Given the description of an element on the screen output the (x, y) to click on. 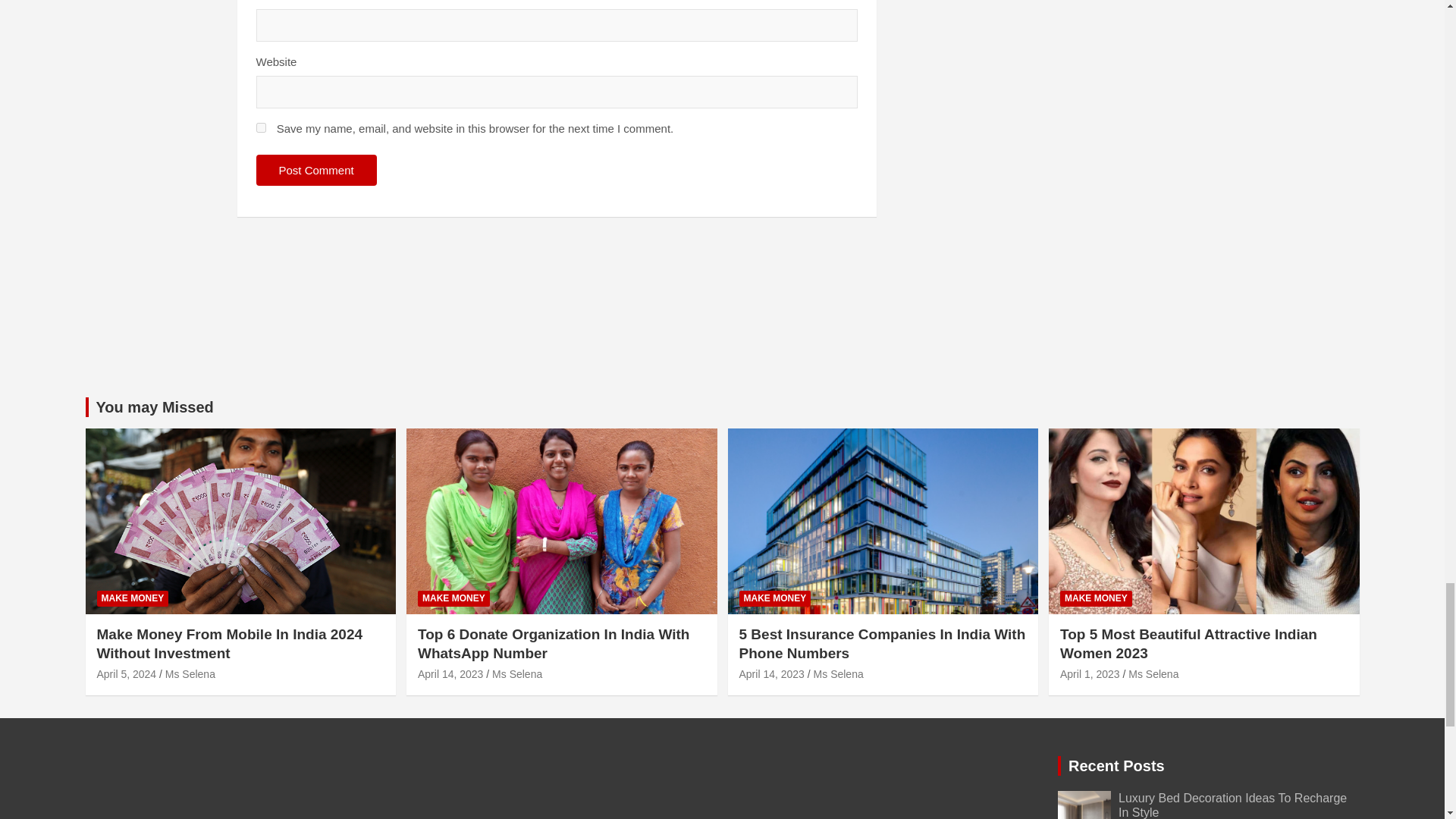
Post Comment (316, 169)
Post Comment (316, 169)
yes (261, 127)
